Given the description of an element on the screen output the (x, y) to click on. 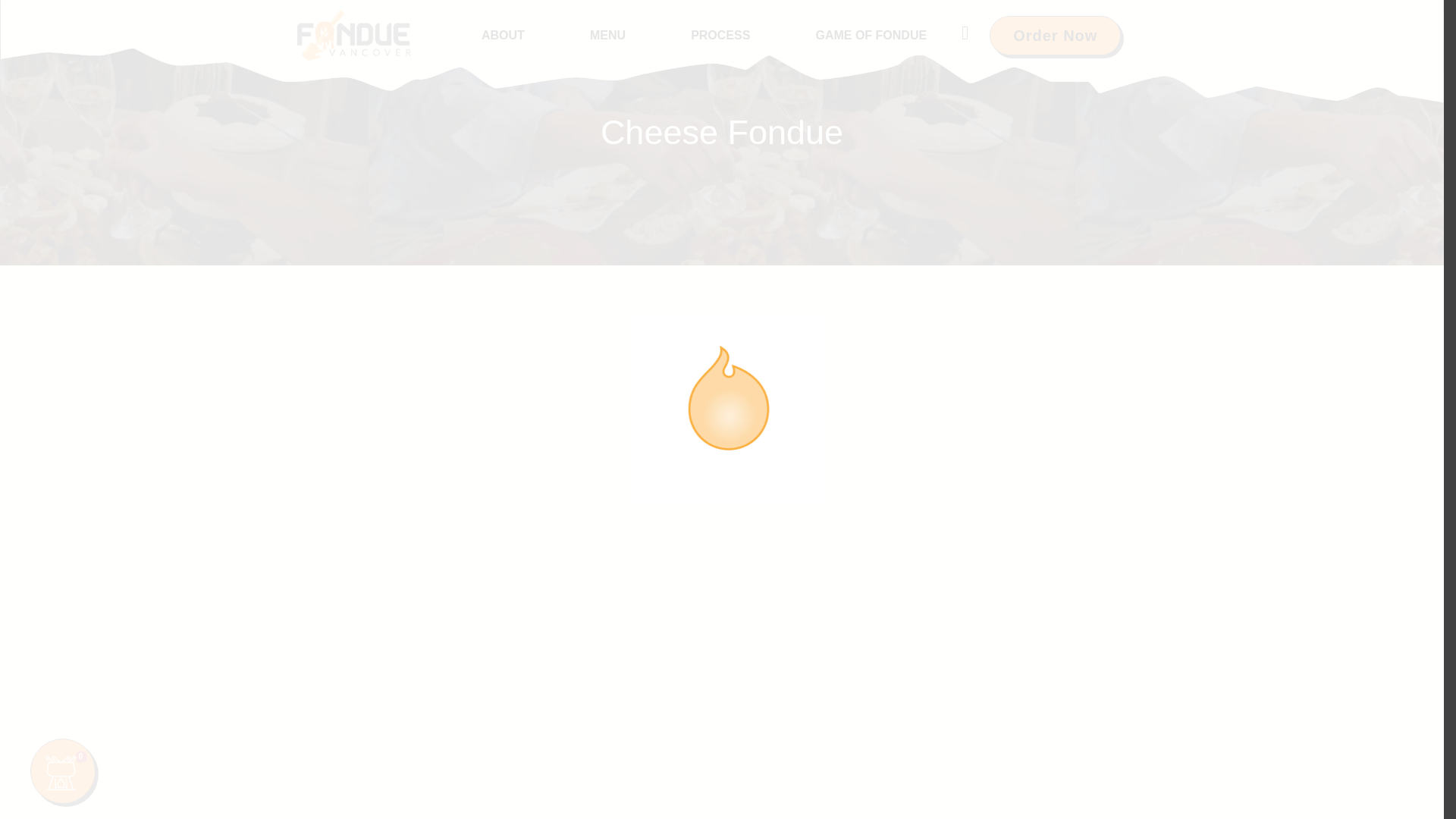
PROCESS (719, 35)
0 (63, 770)
GAME OF FONDUE (871, 35)
Order Now (1055, 35)
MENU (607, 35)
ABOUT (502, 35)
